Given the description of an element on the screen output the (x, y) to click on. 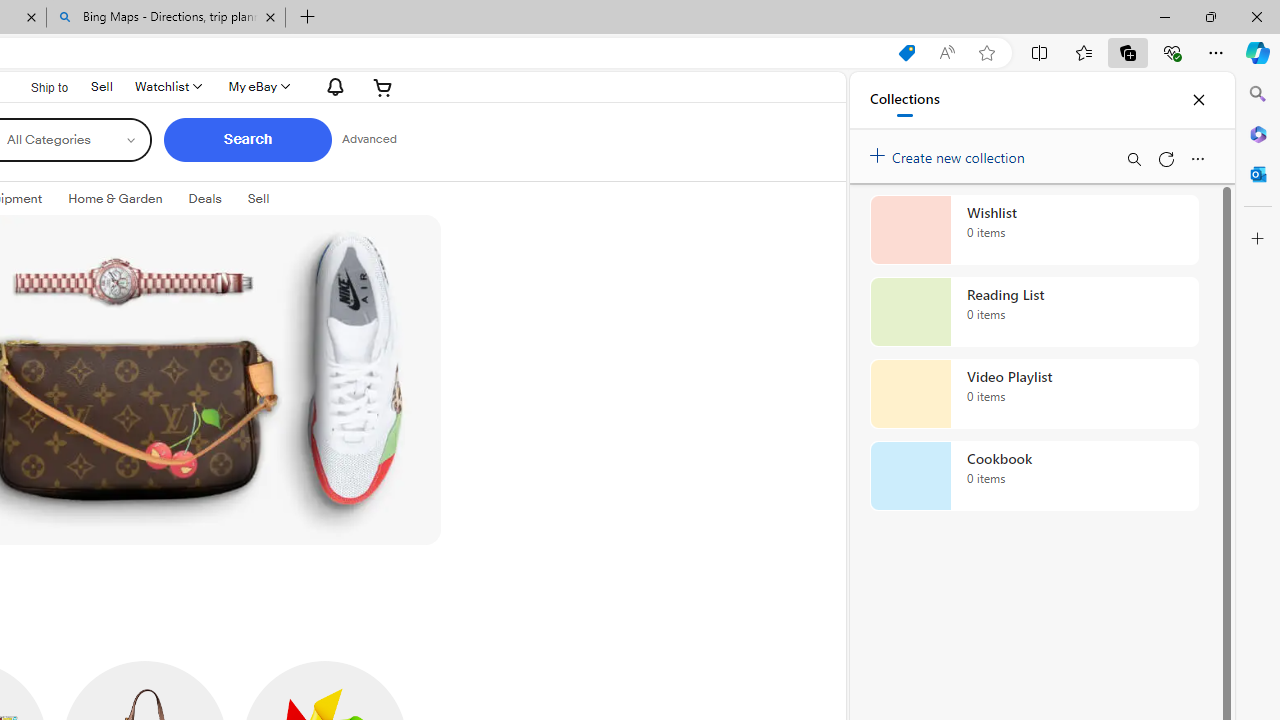
Expand Cart (382, 86)
SellExpand: Sell (258, 199)
Your shopping cart (382, 86)
Watchlist (167, 86)
This site has coupons! Shopping in Microsoft Edge, 20 (906, 53)
Reading List collection, 0 items (1034, 312)
WatchlistExpand Watch List (167, 86)
Video Playlist collection, 0 items (1034, 394)
